Given the description of an element on the screen output the (x, y) to click on. 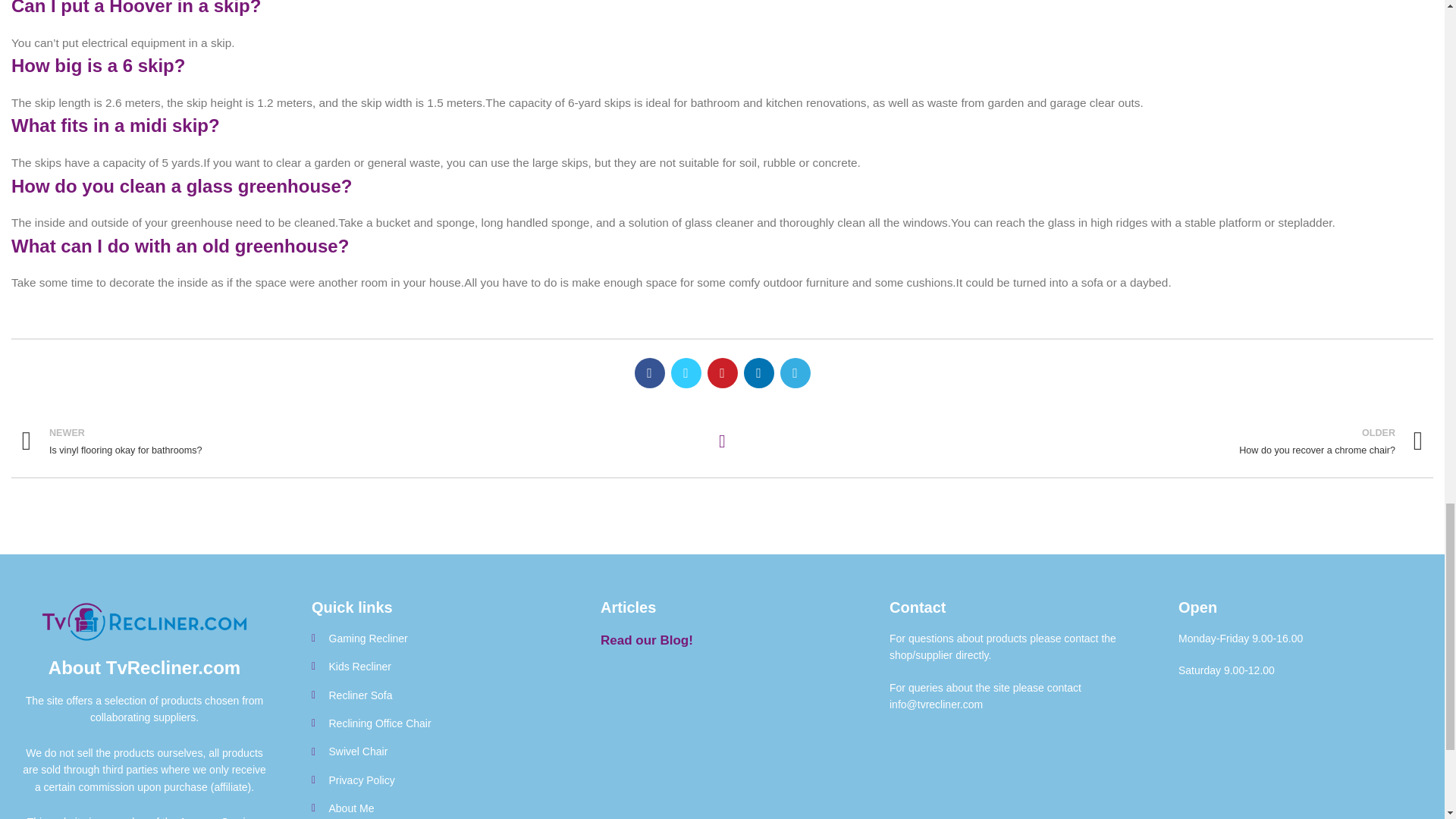
Back to list (722, 440)
Privacy Policy (432, 780)
Reclining Office Chair (432, 723)
About Me (432, 808)
Recliner Sofa (432, 695)
Kids Recliner (361, 441)
Swivel Chair (432, 666)
Gaming Recliner (432, 751)
